Given the description of an element on the screen output the (x, y) to click on. 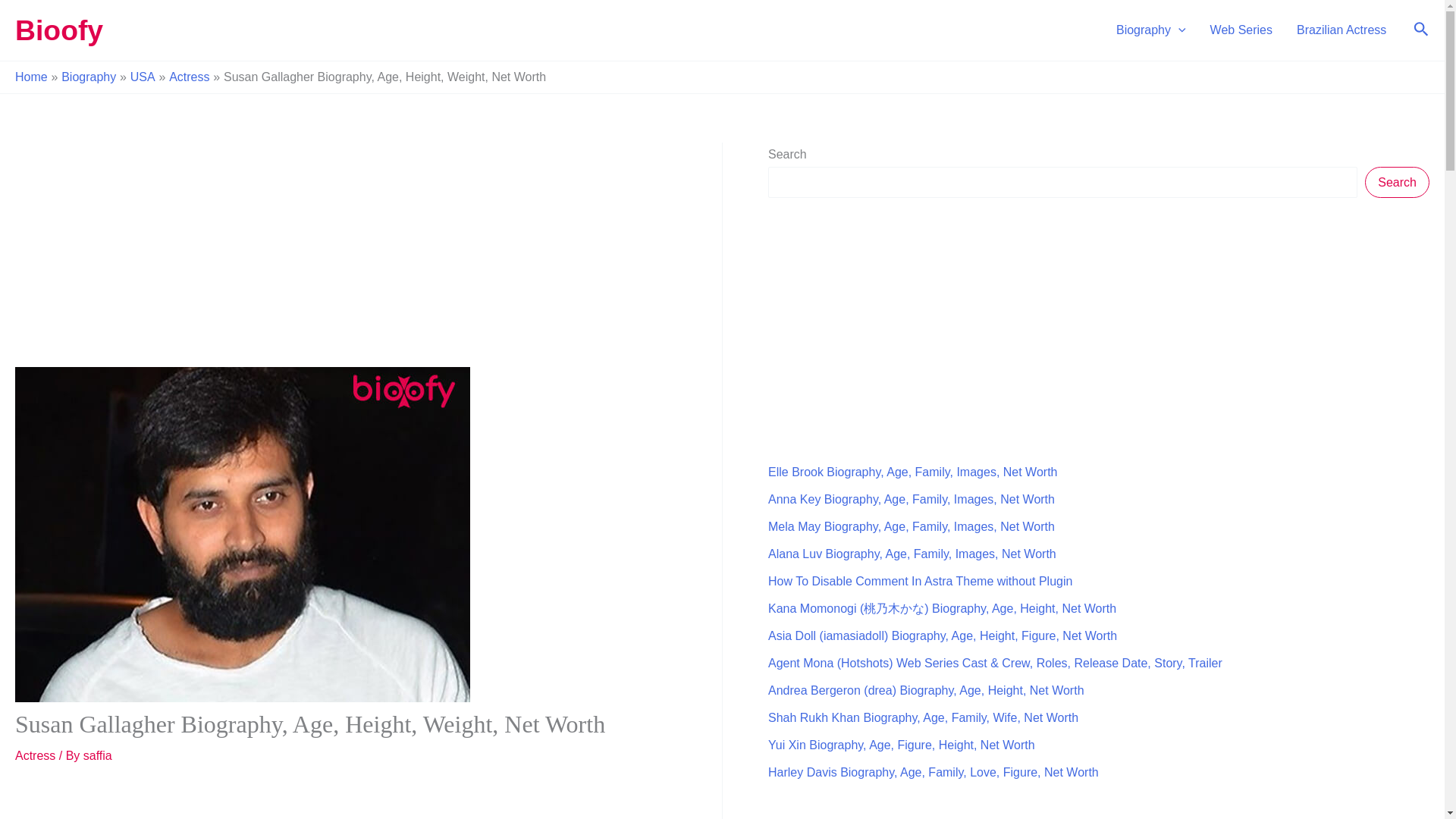
Advertisement (344, 254)
Advertisement (344, 803)
Bioofy (58, 29)
Advertisement (881, 326)
View all posts by saffia (97, 755)
Biography (1150, 30)
